Given the description of an element on the screen output the (x, y) to click on. 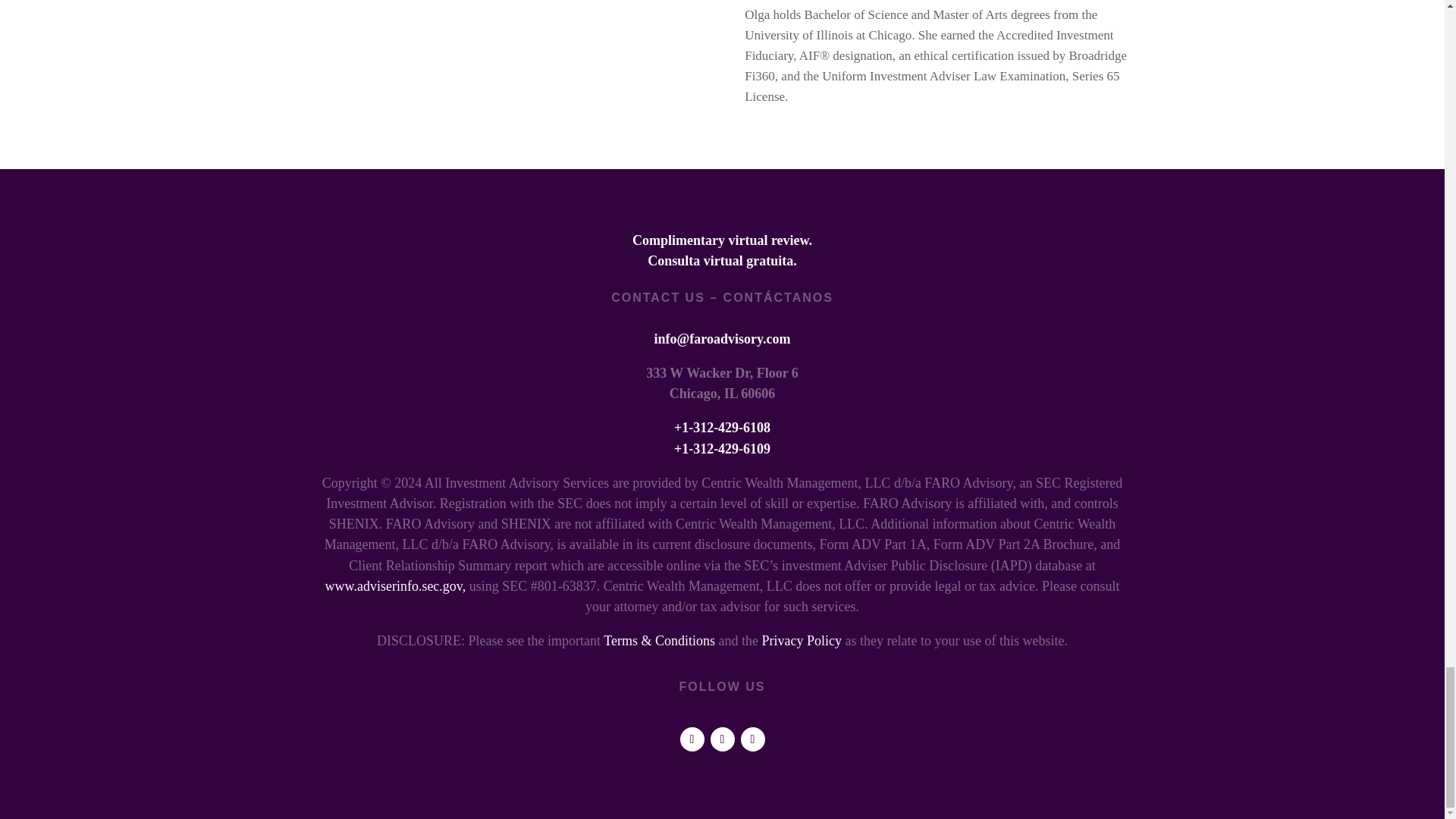
Follow on LinkedIn (691, 739)
Follow on X (751, 739)
Privacy Policy (801, 640)
www.adviserinfo.sec.gov (393, 585)
Follow on Facebook (721, 739)
